Given the description of an element on the screen output the (x, y) to click on. 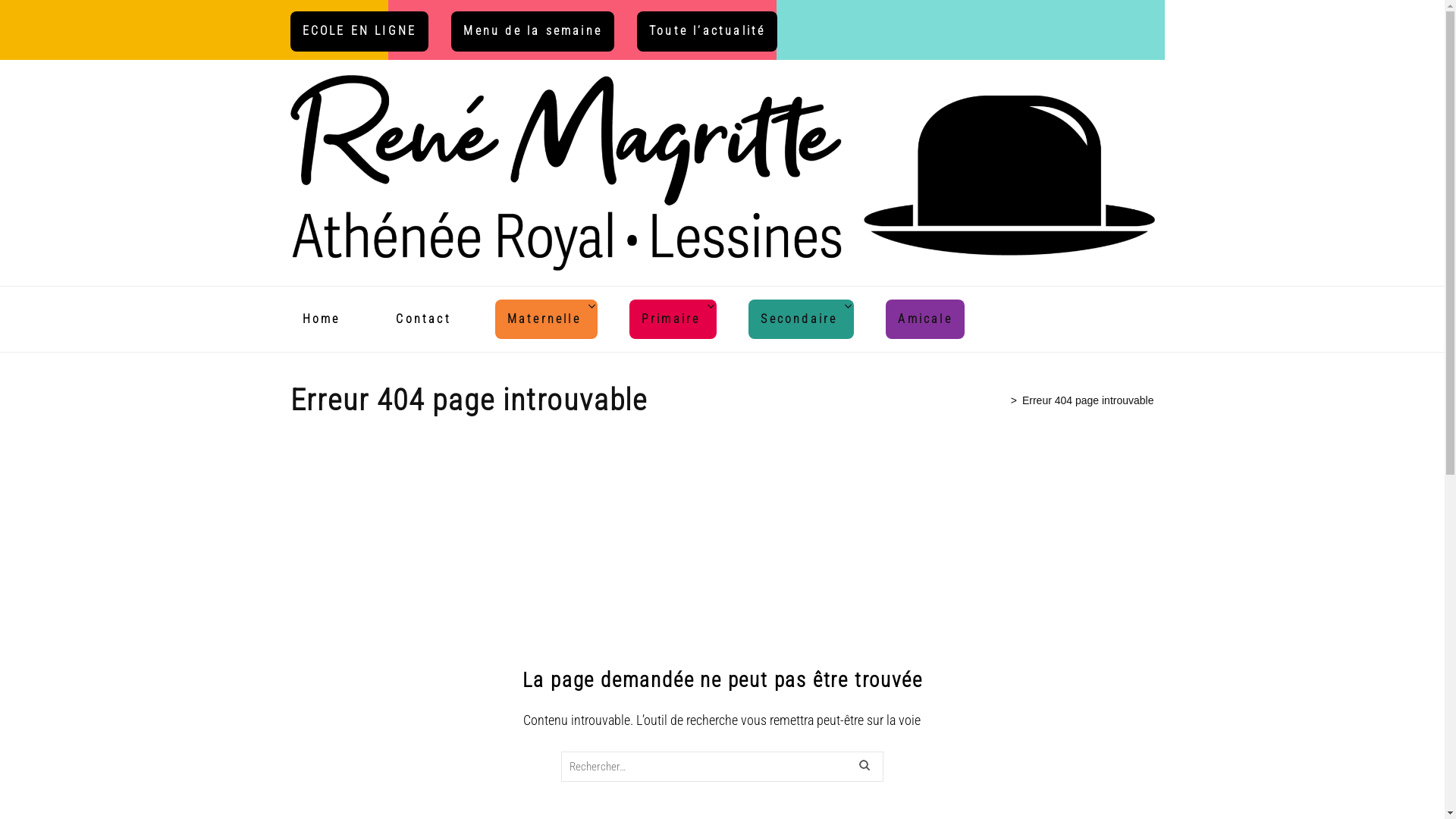
Home Element type: text (320, 319)
ECOLE EN LIGNE Element type: text (358, 30)
Secondaire Element type: text (798, 319)
Accueil Element type: text (987, 400)
Contact Element type: text (422, 319)
Primaire Element type: text (670, 319)
Menu de la semaine Element type: text (532, 30)
Amicale Element type: text (924, 319)
Rechercher Element type: text (865, 766)
Maternelle Element type: text (543, 319)
